Given the description of an element on the screen output the (x, y) to click on. 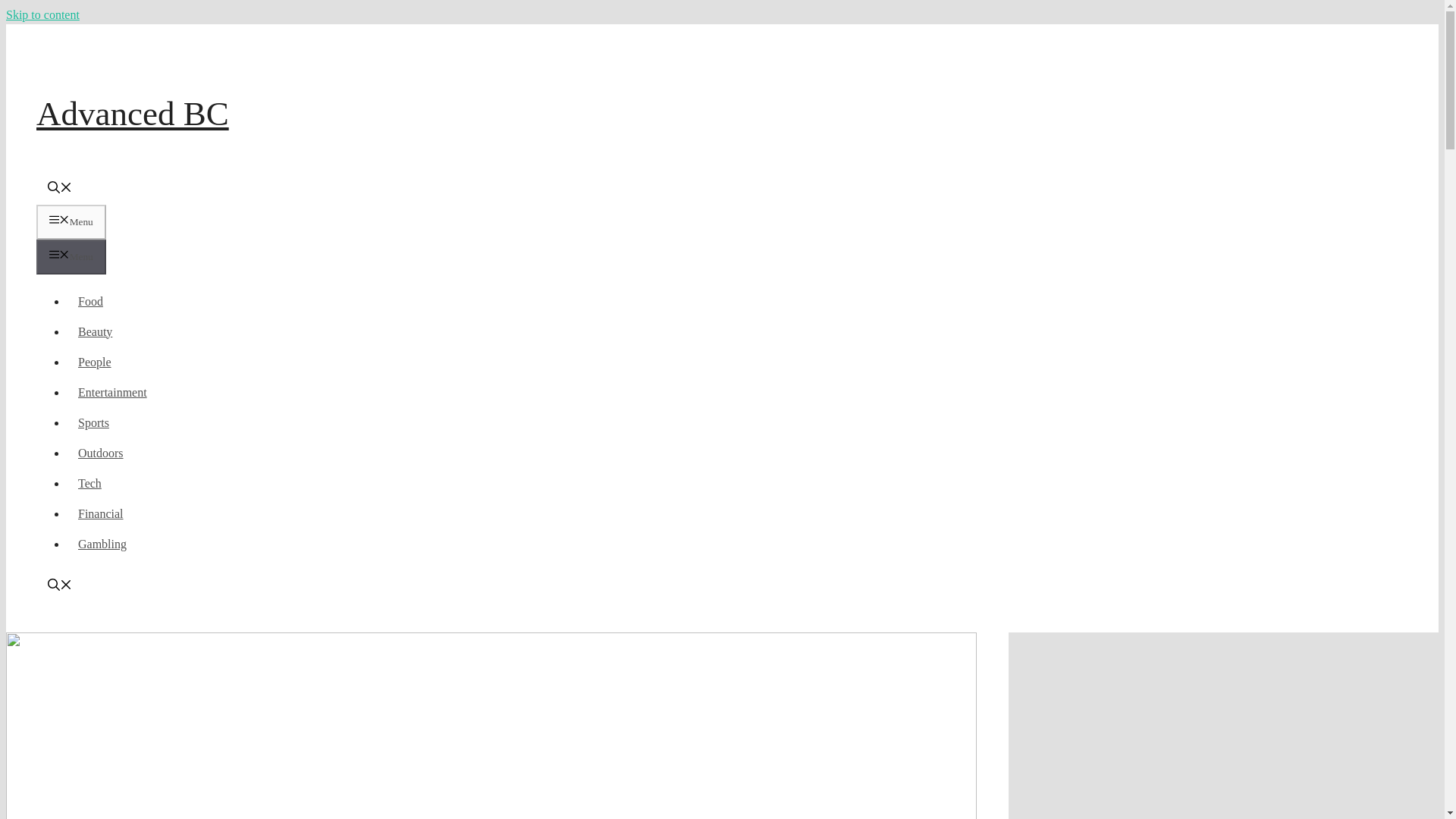
Sports (93, 421)
Gambling (102, 543)
Menu (71, 221)
Advanced BC (132, 113)
Skip to content (42, 14)
Financial (100, 512)
Food (90, 300)
People (94, 360)
Menu (71, 256)
Outdoors (100, 451)
Tech (89, 481)
Entertainment (112, 391)
Beauty (94, 330)
Skip to content (42, 14)
